Given the description of an element on the screen output the (x, y) to click on. 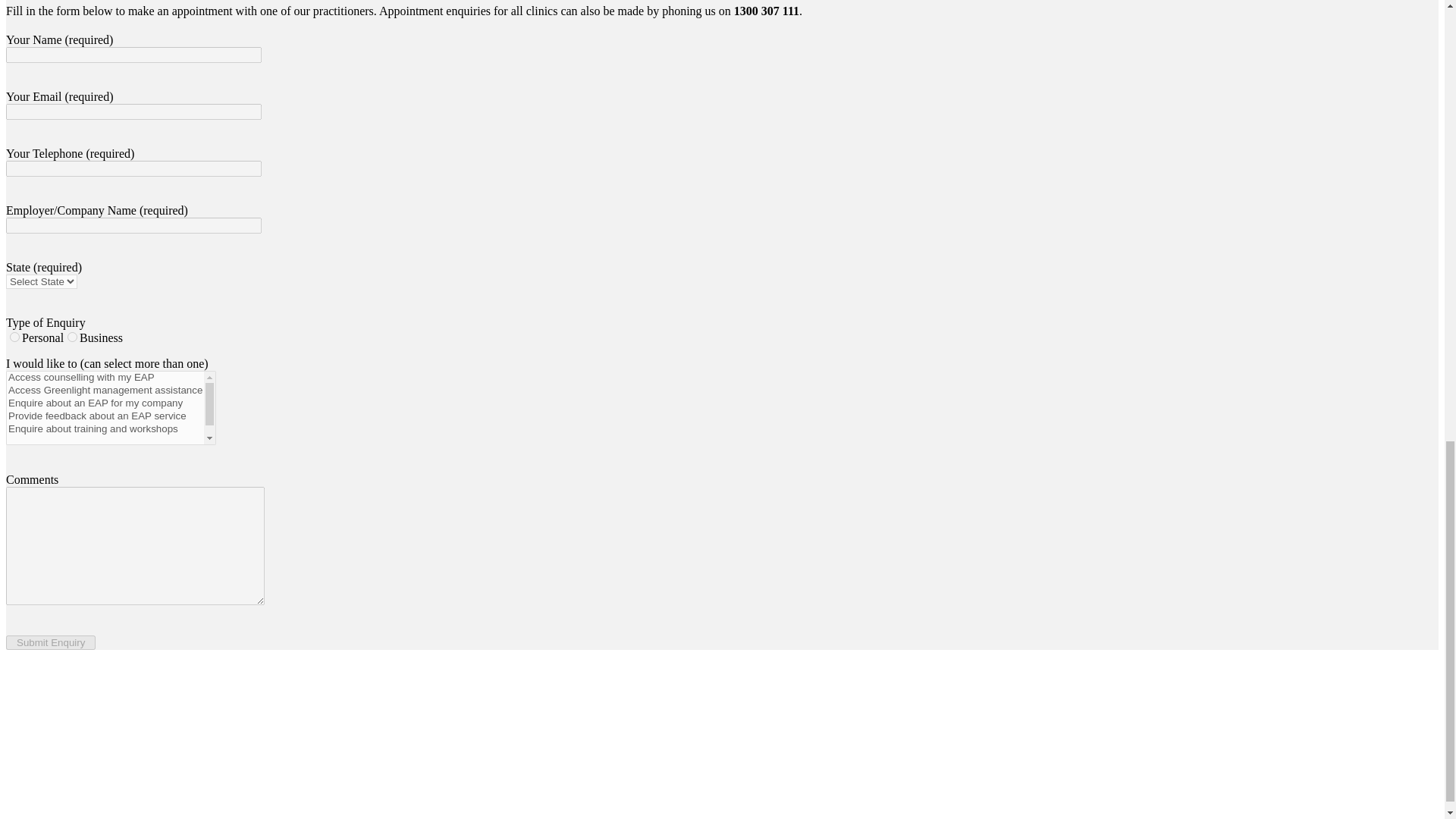
Personal (15, 337)
Submit Enquiry (50, 642)
Business (71, 337)
Submit Enquiry (50, 642)
